Given the description of an element on the screen output the (x, y) to click on. 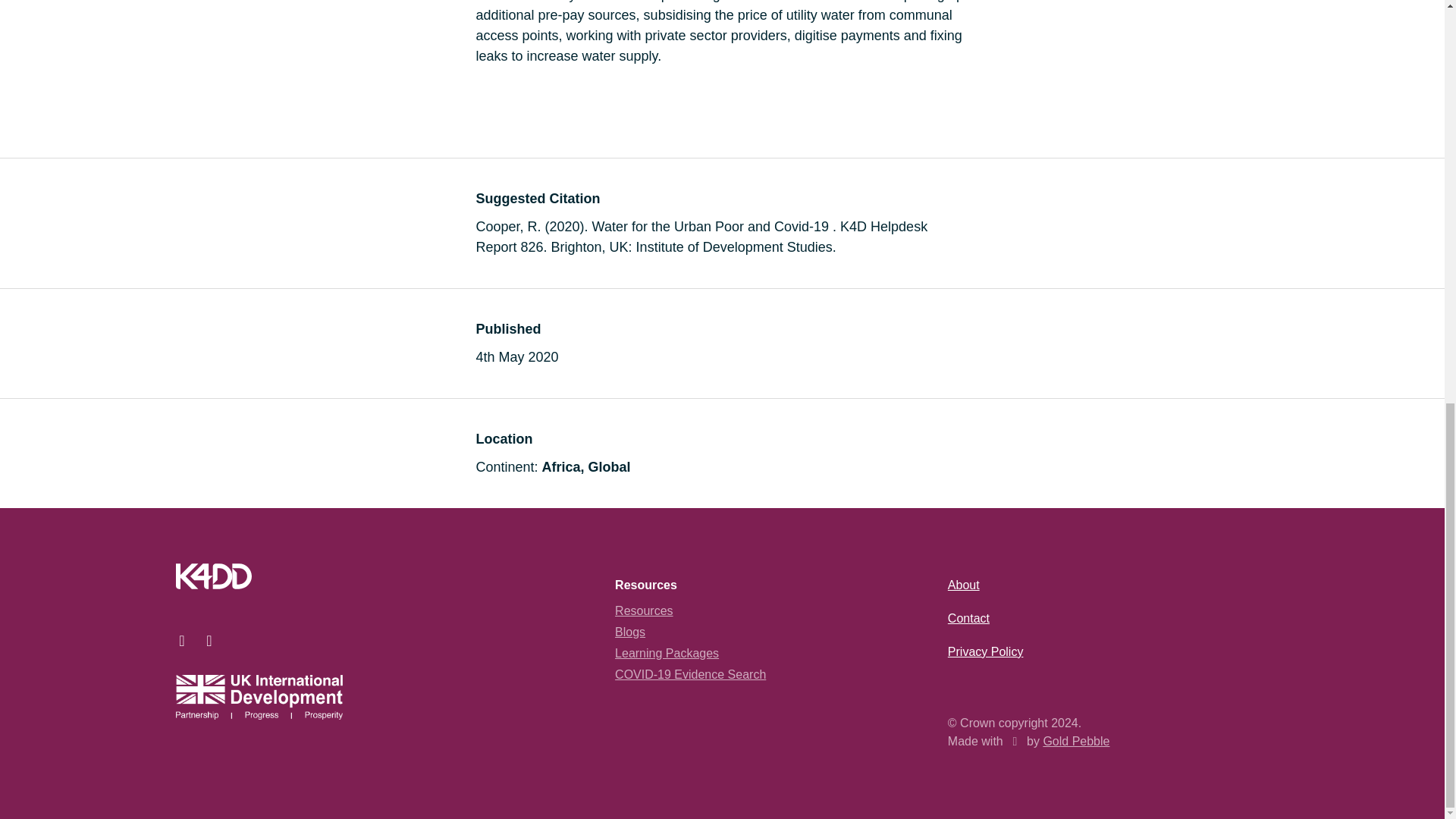
We're on twitter (181, 640)
LinkedIn (208, 640)
Home (213, 575)
About (963, 584)
Blogs (629, 631)
Gold Pebble (1075, 740)
We're on Linked-in (208, 640)
Resources (643, 610)
Privacy Policy (985, 651)
Contact (968, 617)
